Given the description of an element on the screen output the (x, y) to click on. 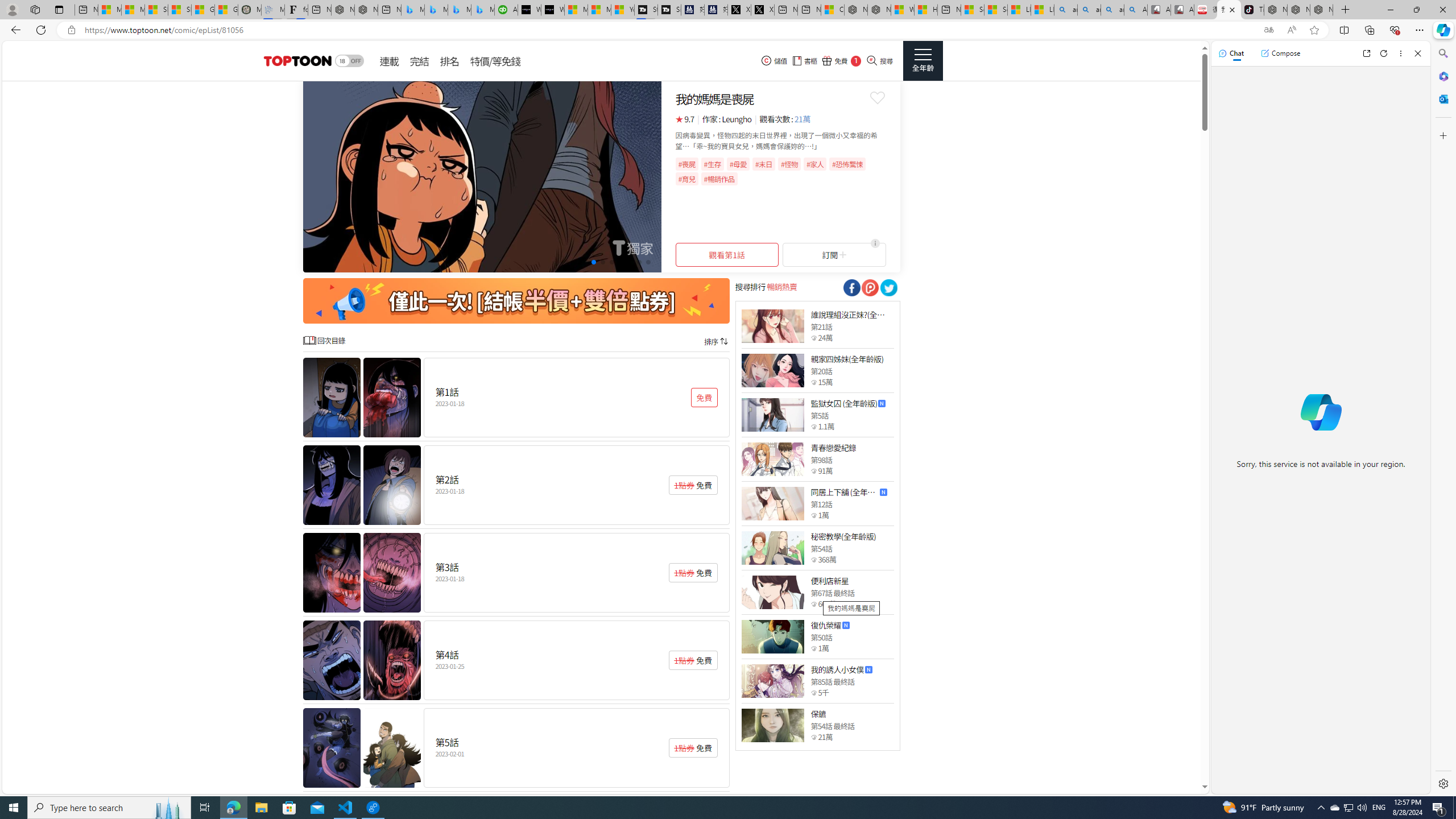
Outlook (1442, 98)
Nordace - #1 Japanese Best-Seller - Siena Smart Backpack (365, 9)
Microsoft Start Sports (575, 9)
Go to slide 2 (575, 261)
Go to slide 3 (584, 261)
Show translate options (1268, 29)
Restore (1416, 9)
Microsoft 365 (1442, 76)
Copilot (Ctrl+Shift+.) (1442, 29)
